Given the description of an element on the screen output the (x, y) to click on. 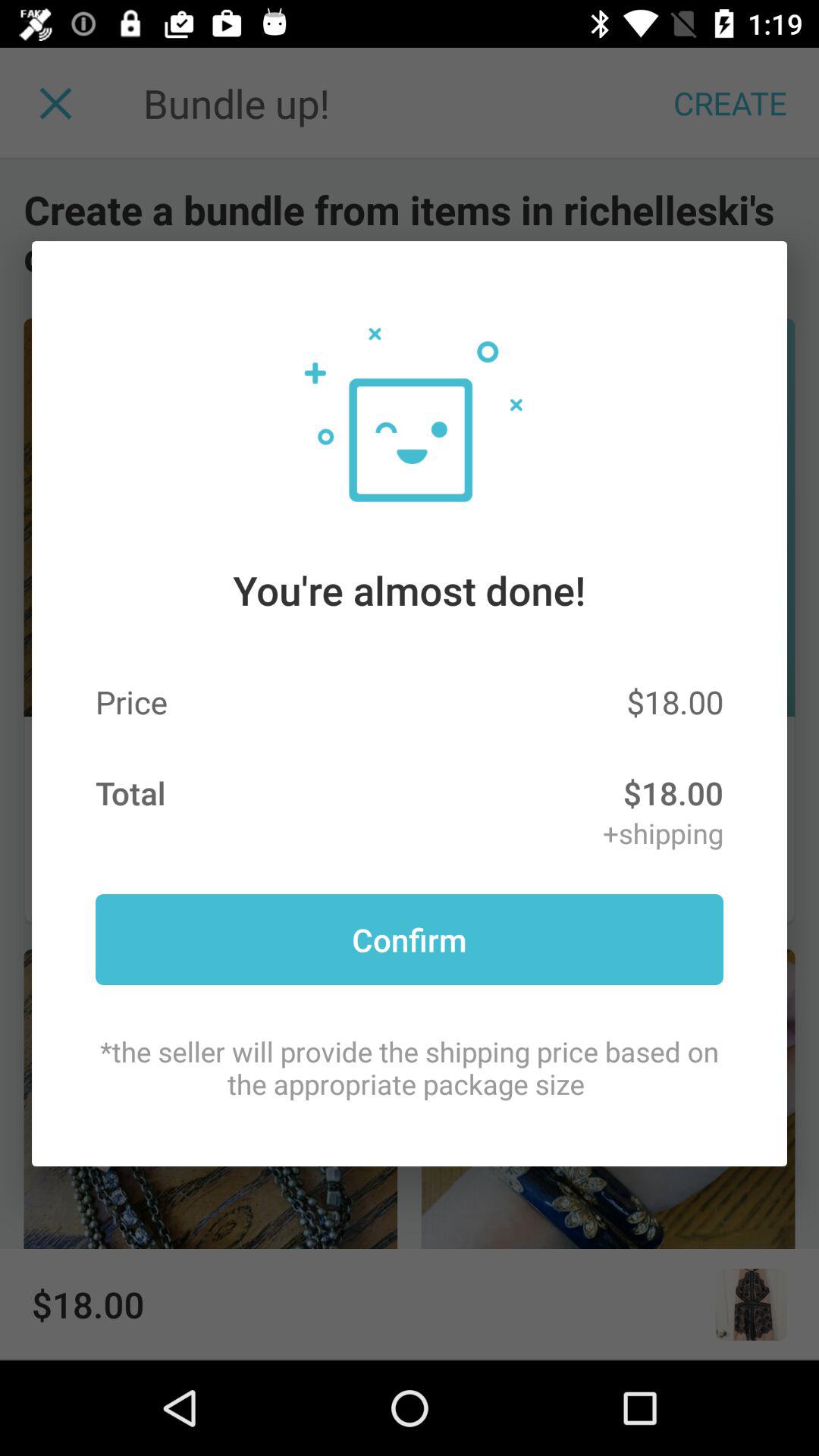
swipe until confirm item (409, 939)
